Given the description of an element on the screen output the (x, y) to click on. 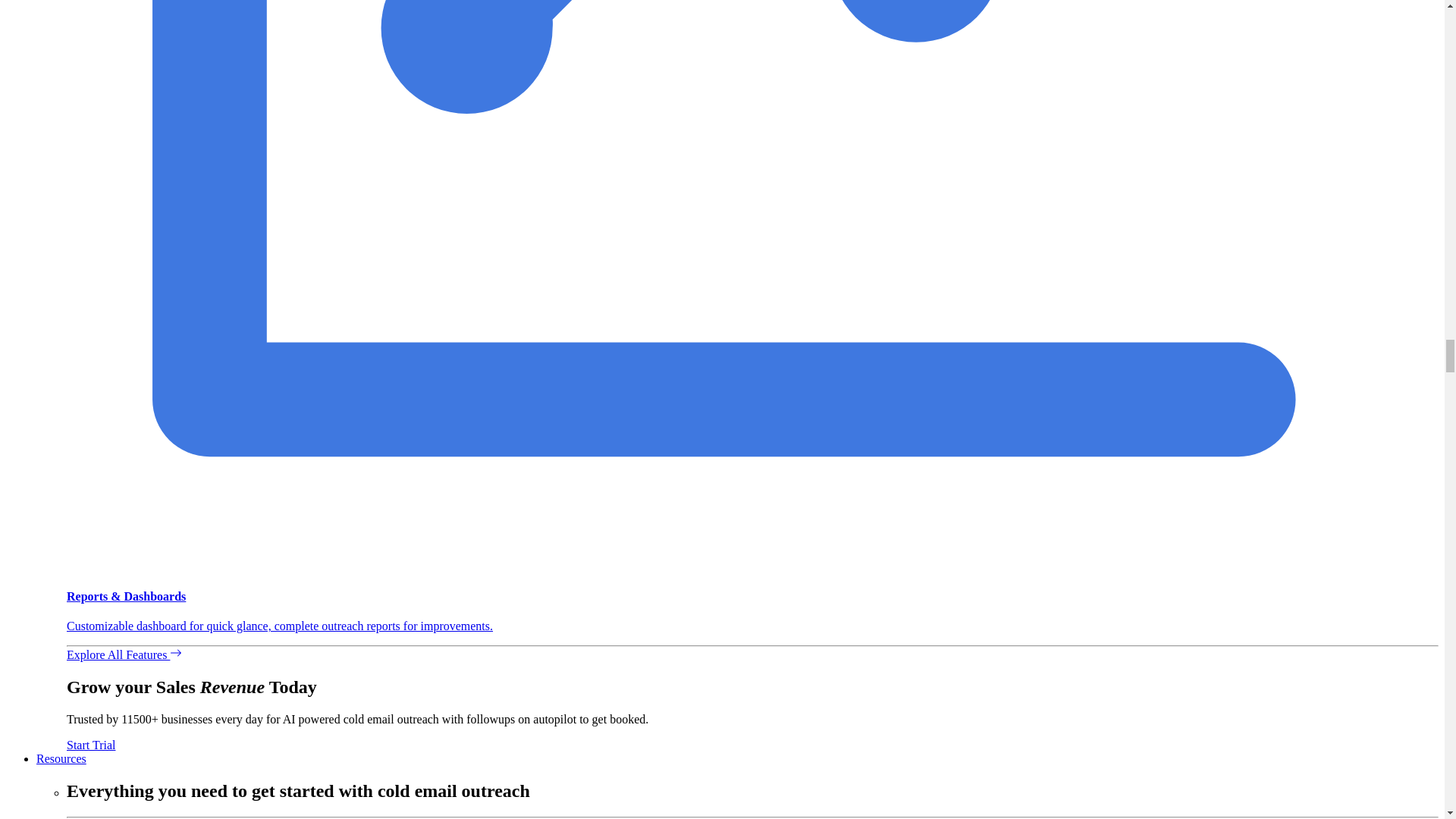
Start Trial (90, 744)
Explore All Features (124, 654)
Resources (60, 758)
